Given the description of an element on the screen output the (x, y) to click on. 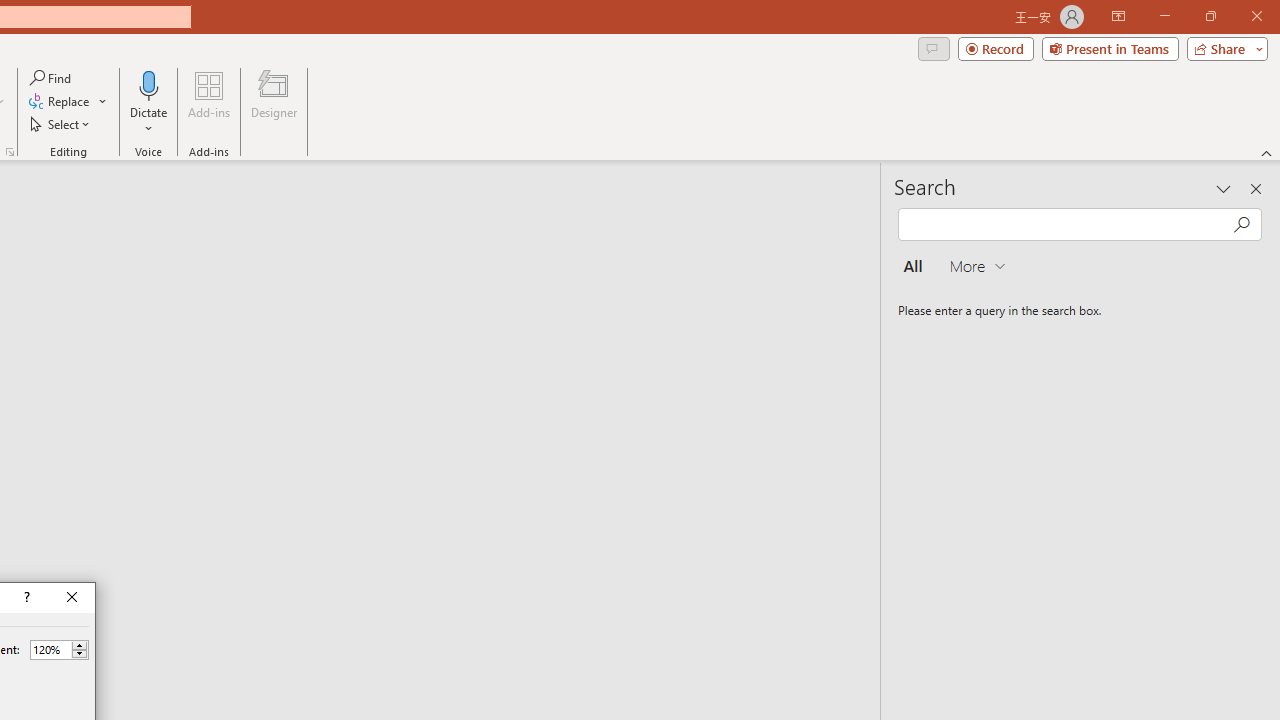
Less (79, 654)
